Given the description of an element on the screen output the (x, y) to click on. 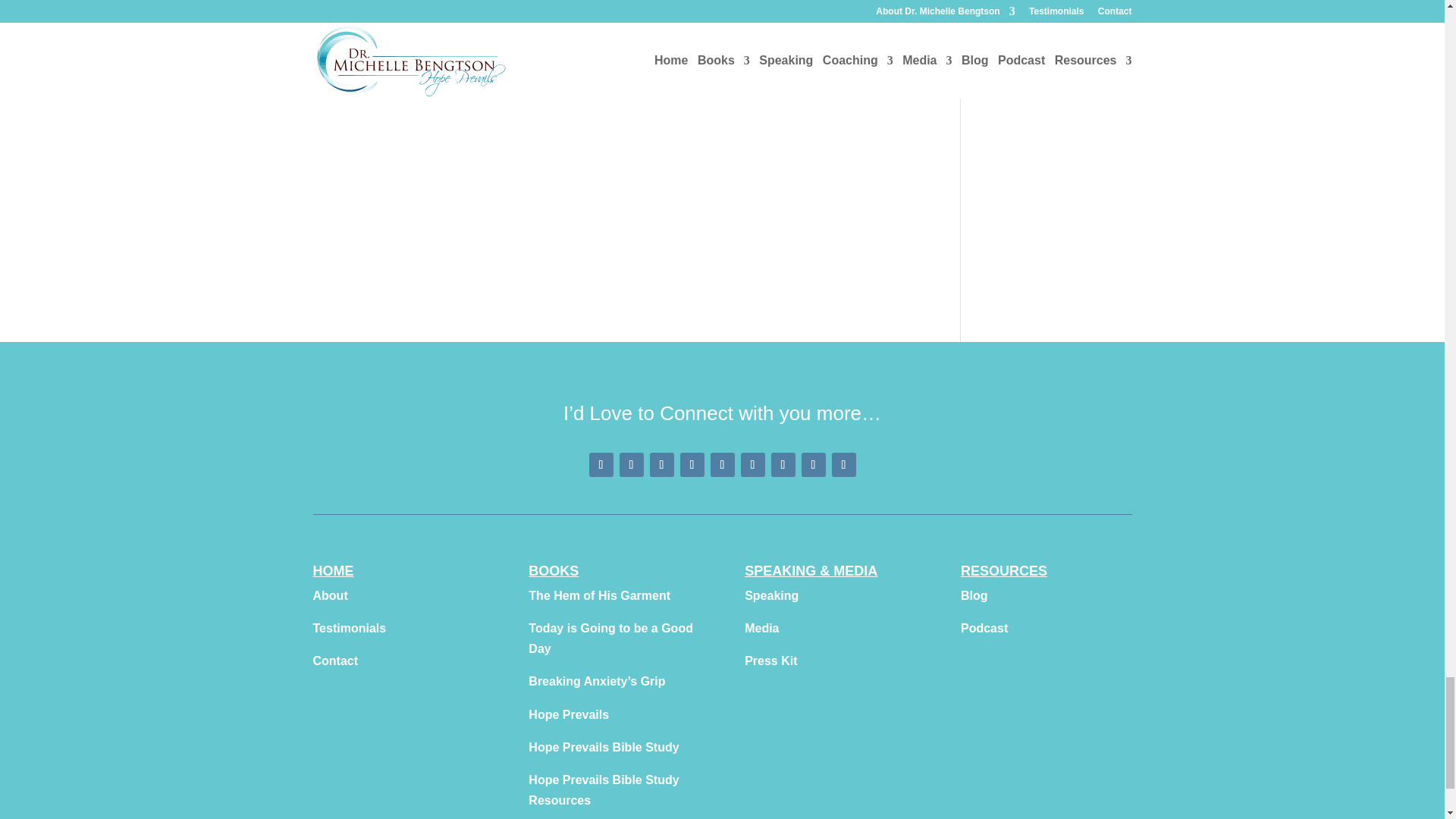
Follow on LinkedIn (751, 464)
Follow on Pinterest (630, 464)
Follow on Podcast (782, 464)
Follow on Youtube (691, 464)
Follow on Facebook (600, 464)
Follow on Twitter (721, 464)
Comment Form (614, 107)
Follow on Amazon (812, 464)
Follow on BookBub (843, 464)
Follow on Instagram (660, 464)
